Given the description of an element on the screen output the (x, y) to click on. 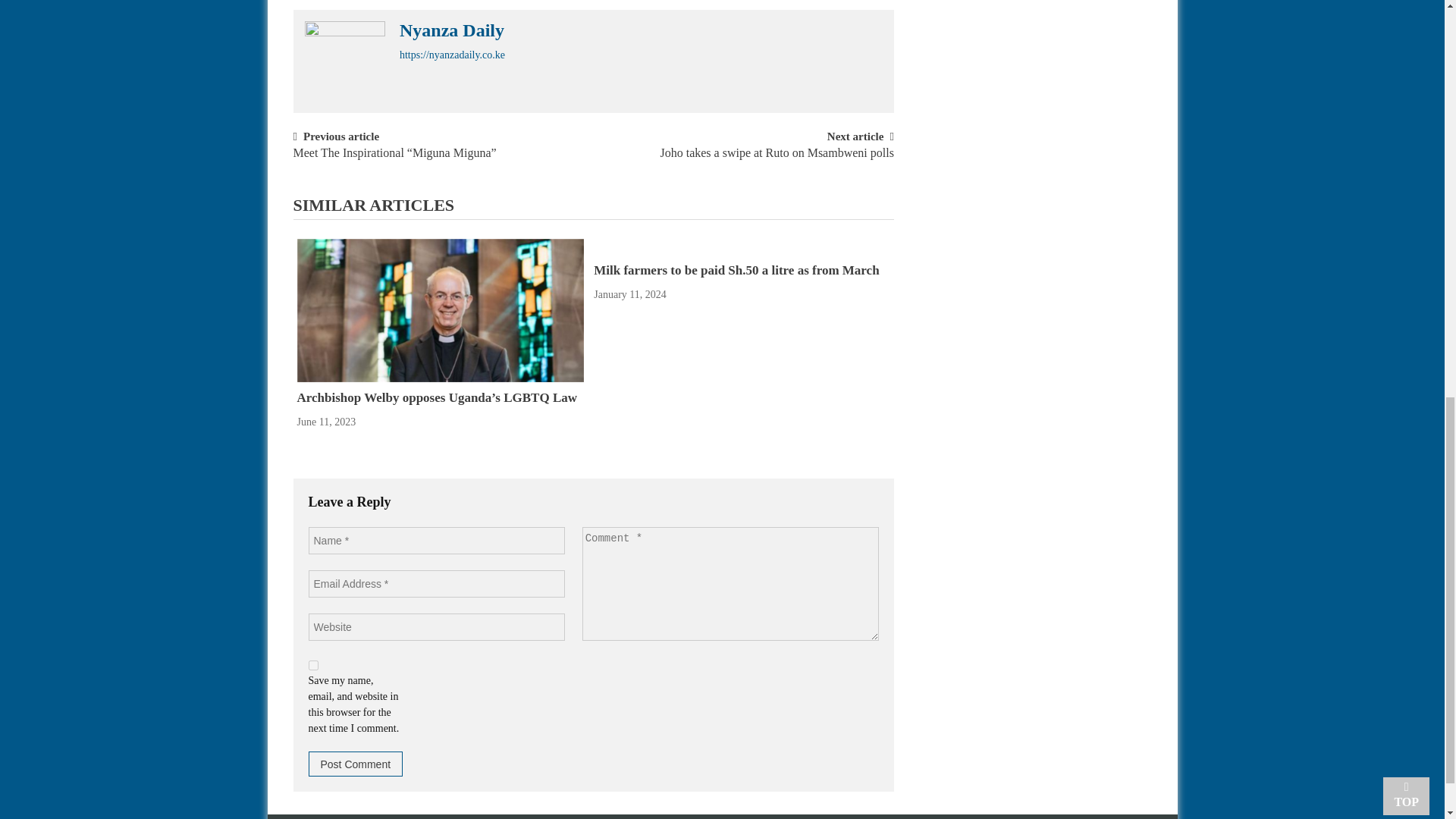
Milk farmers to be paid Sh.50 a litre as from March (736, 269)
Milk farmers to be paid Sh.50 a litre as from March (737, 246)
Joho takes a swipe at Ruto on Msambweni polls (776, 160)
January 11, 2024 (630, 294)
Post Comment (355, 763)
yes (312, 665)
Milk farmers to be paid Sh.50 a litre as from March (736, 269)
Nyanza Daily (450, 30)
June 11, 2023 (326, 421)
